Given the description of an element on the screen output the (x, y) to click on. 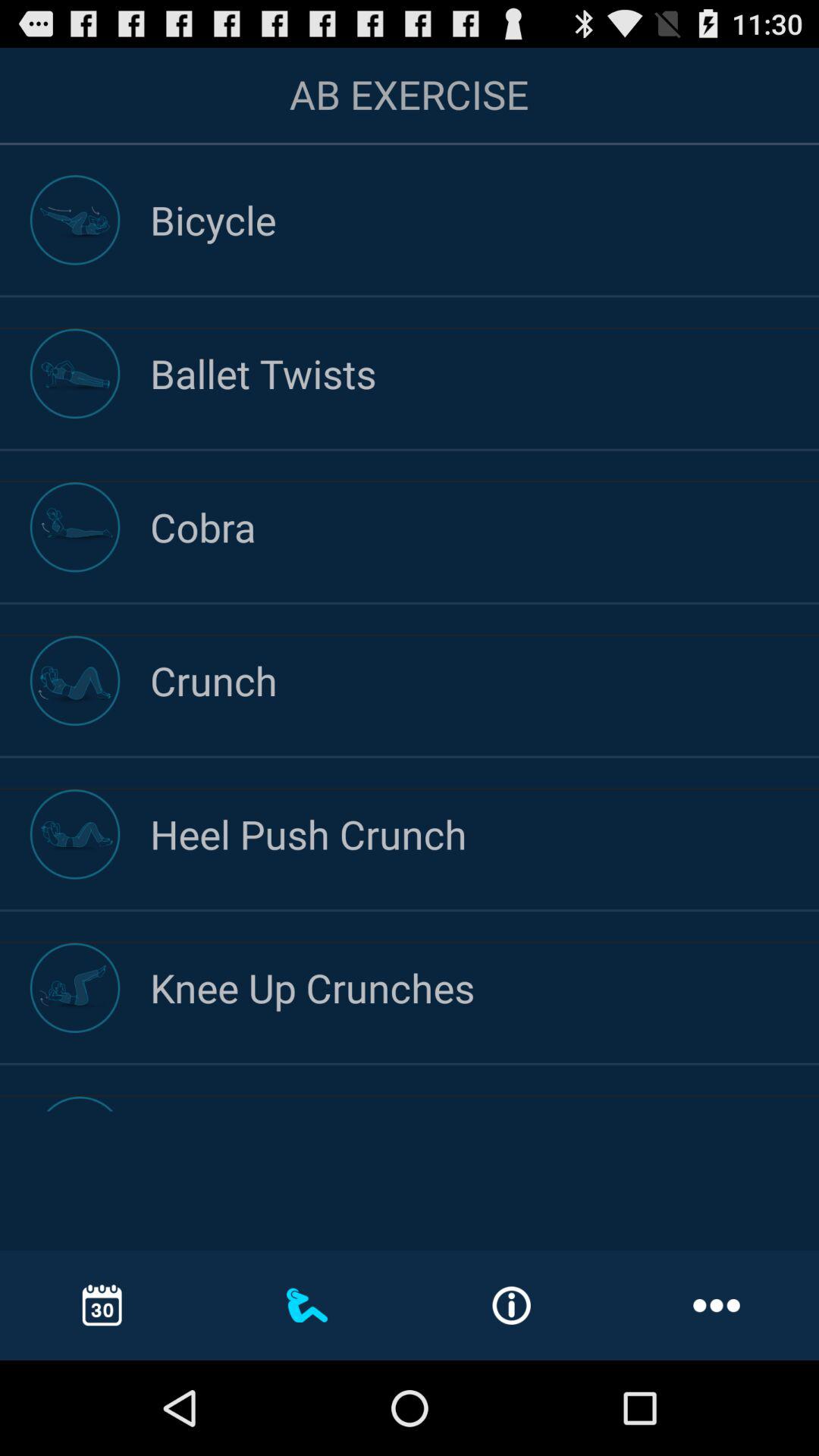
flip to the knee up crunches item (484, 987)
